Given the description of an element on the screen output the (x, y) to click on. 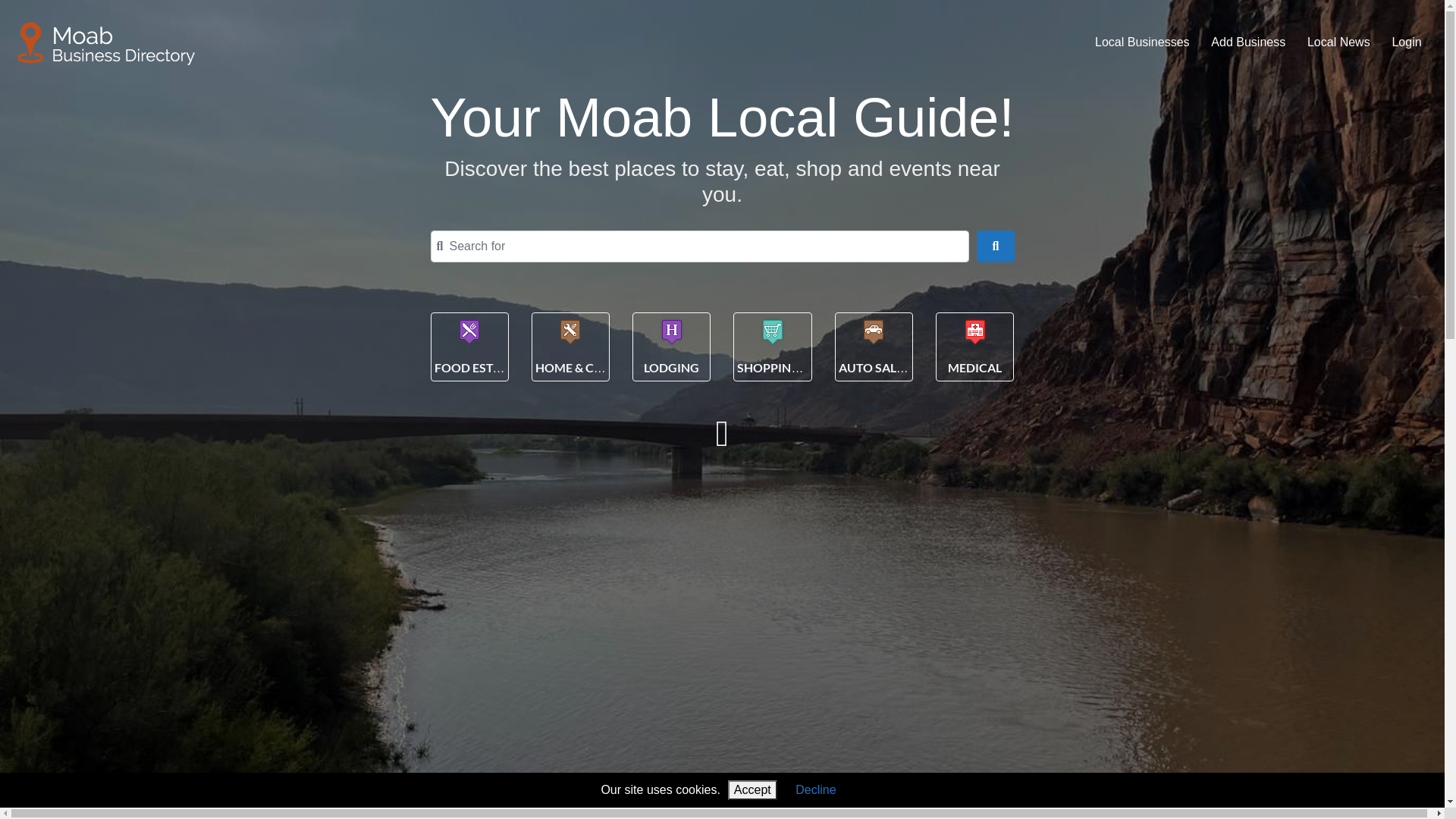
Add Business Element type: text (1248, 42)
Search Element type: text (994, 246)
Local News Element type: text (1338, 42)
Decline Element type: text (815, 789)
FOOD ESTABLISHMENT Element type: text (500, 367)
HOME & CONSTRUCTION Element type: text (608, 367)
Local Businesses Element type: text (1142, 42)
LODGING Element type: text (671, 367)
Accept Element type: text (752, 790)
SHOPPING CENTER Element type: text (792, 367)
AUTO SALES & SERVICE Element type: text (904, 367)
MEDICAL Element type: text (974, 367)
Login Element type: text (1406, 42)
Moab Business Directory Element type: hover (106, 41)
